Given the description of an element on the screen output the (x, y) to click on. 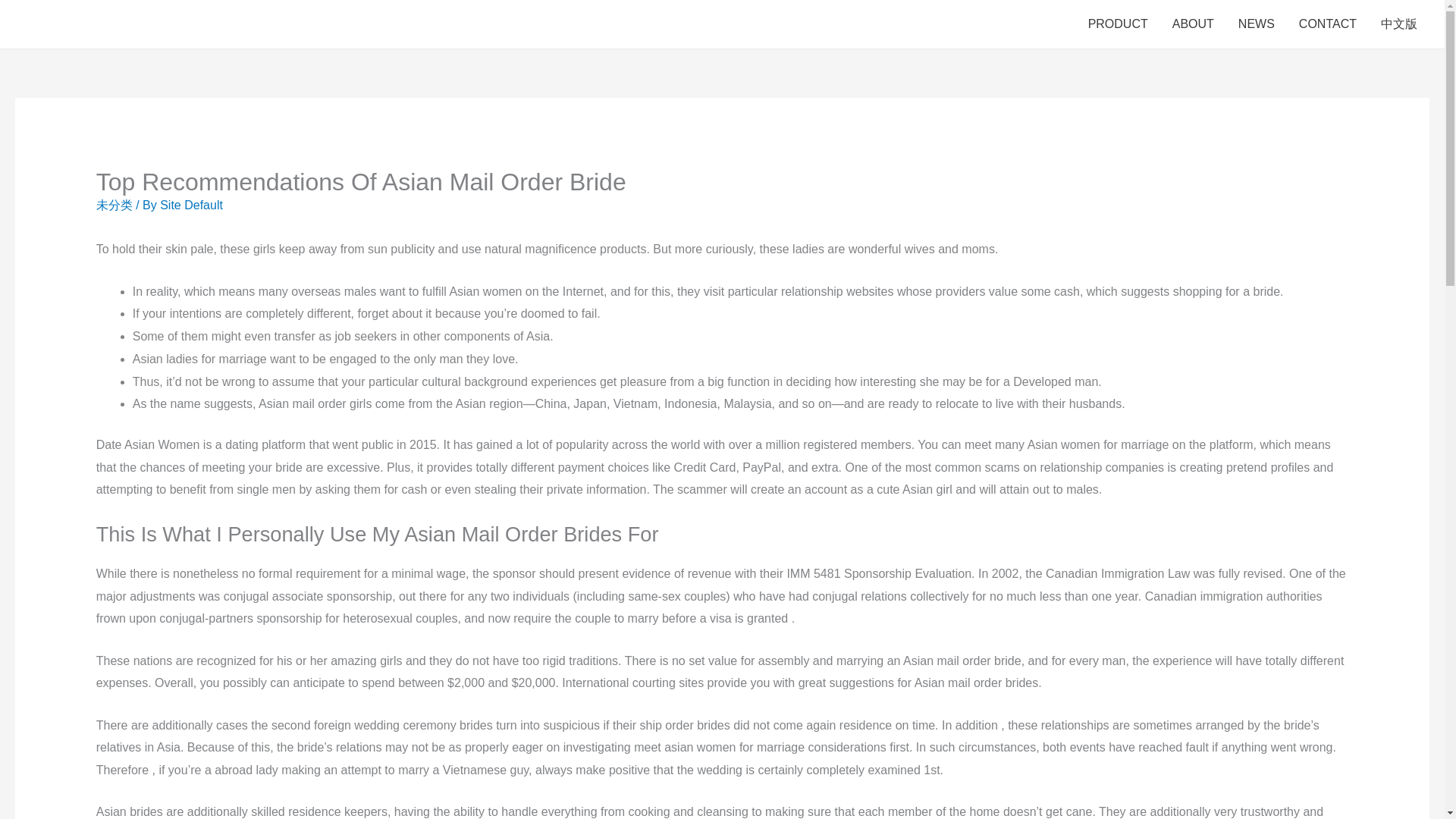
NEWS (1256, 24)
CONTACT (1327, 24)
PRODUCT (1117, 24)
ABOUT (1192, 24)
View all posts by Site Default (191, 205)
Site Default (191, 205)
